Given the description of an element on the screen output the (x, y) to click on. 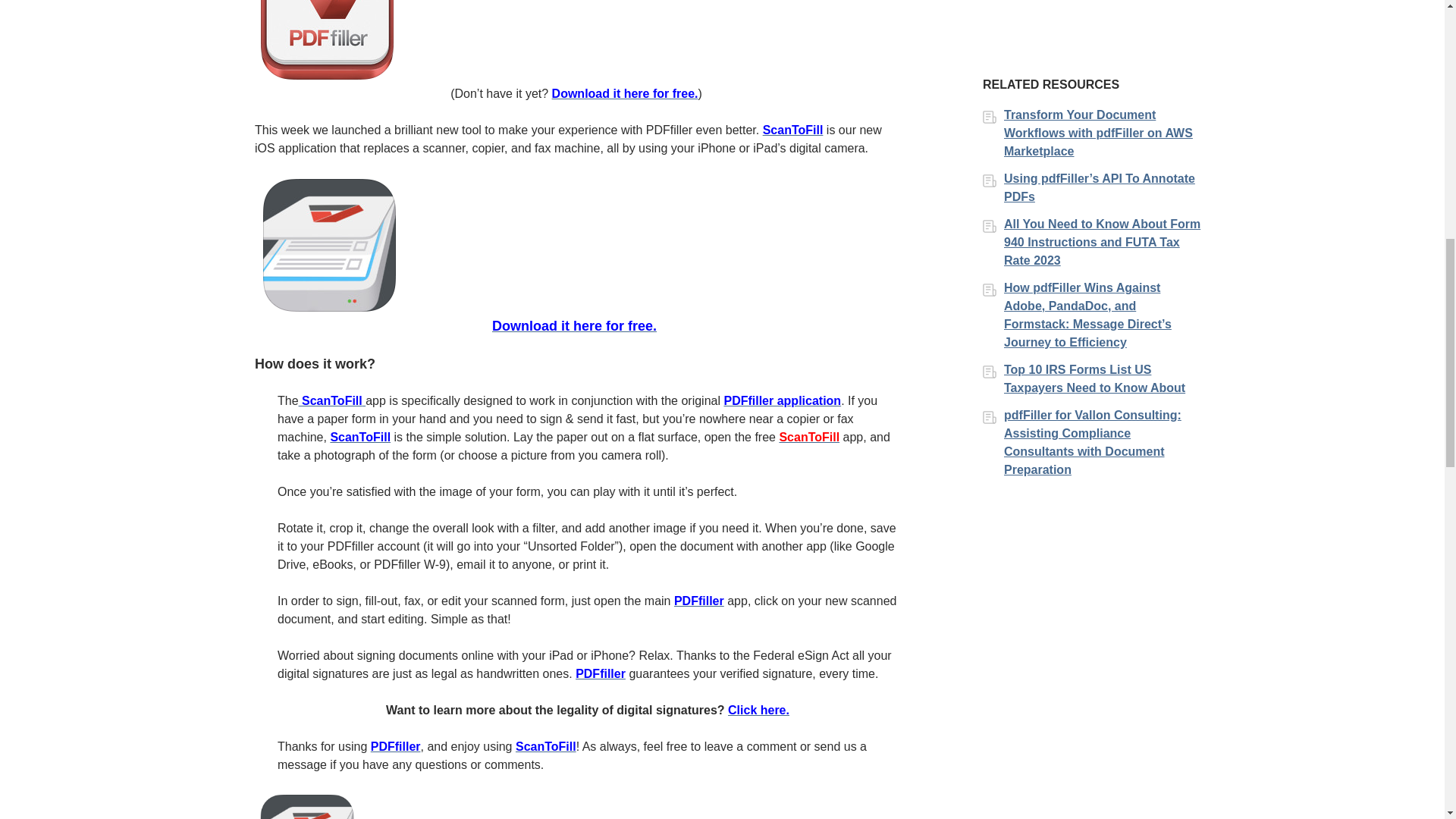
ScanToFill (332, 400)
ScanToFill (793, 129)
PDFfiller.com (698, 600)
ScanToFill (809, 436)
eSign Act (758, 709)
ScanToFill App (793, 129)
PDFfiller application (782, 400)
ScanToFill App (360, 436)
ScanToFill App (574, 325)
ScanToFill (332, 400)
